Given the description of an element on the screen output the (x, y) to click on. 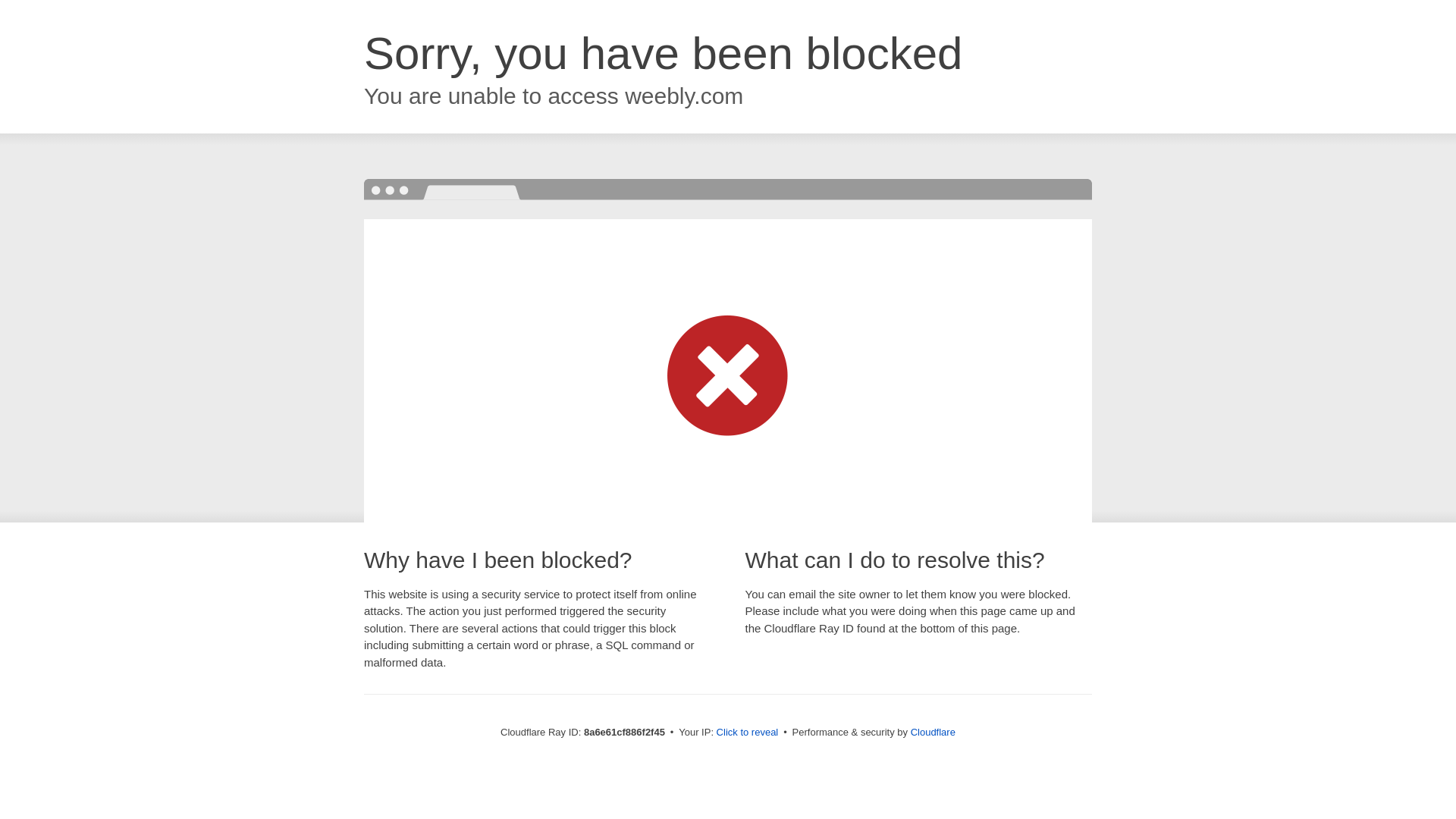
Click to reveal (747, 732)
Cloudflare (933, 731)
